Given the description of an element on the screen output the (x, y) to click on. 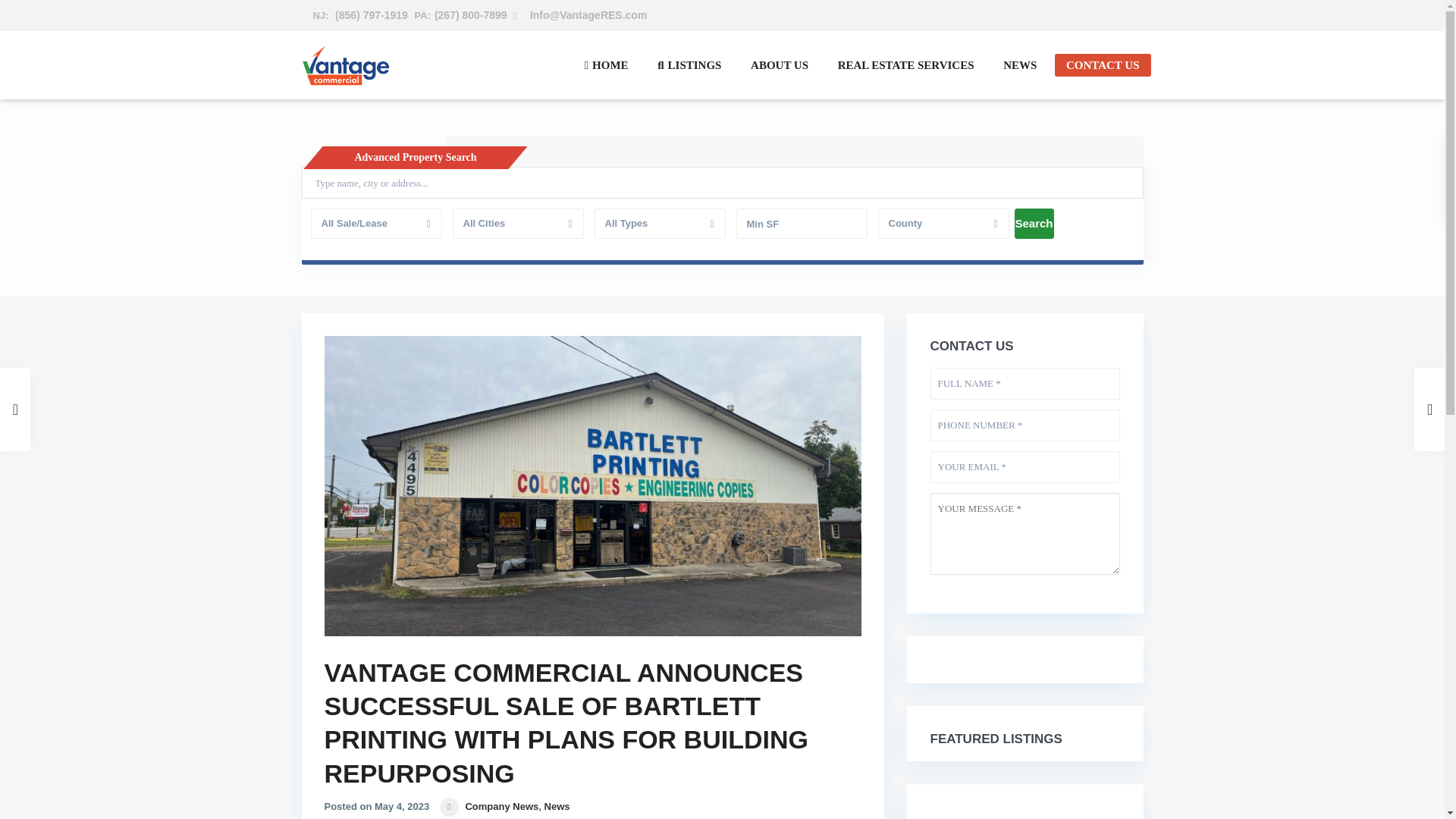
Search (1034, 223)
